Given the description of an element on the screen output the (x, y) to click on. 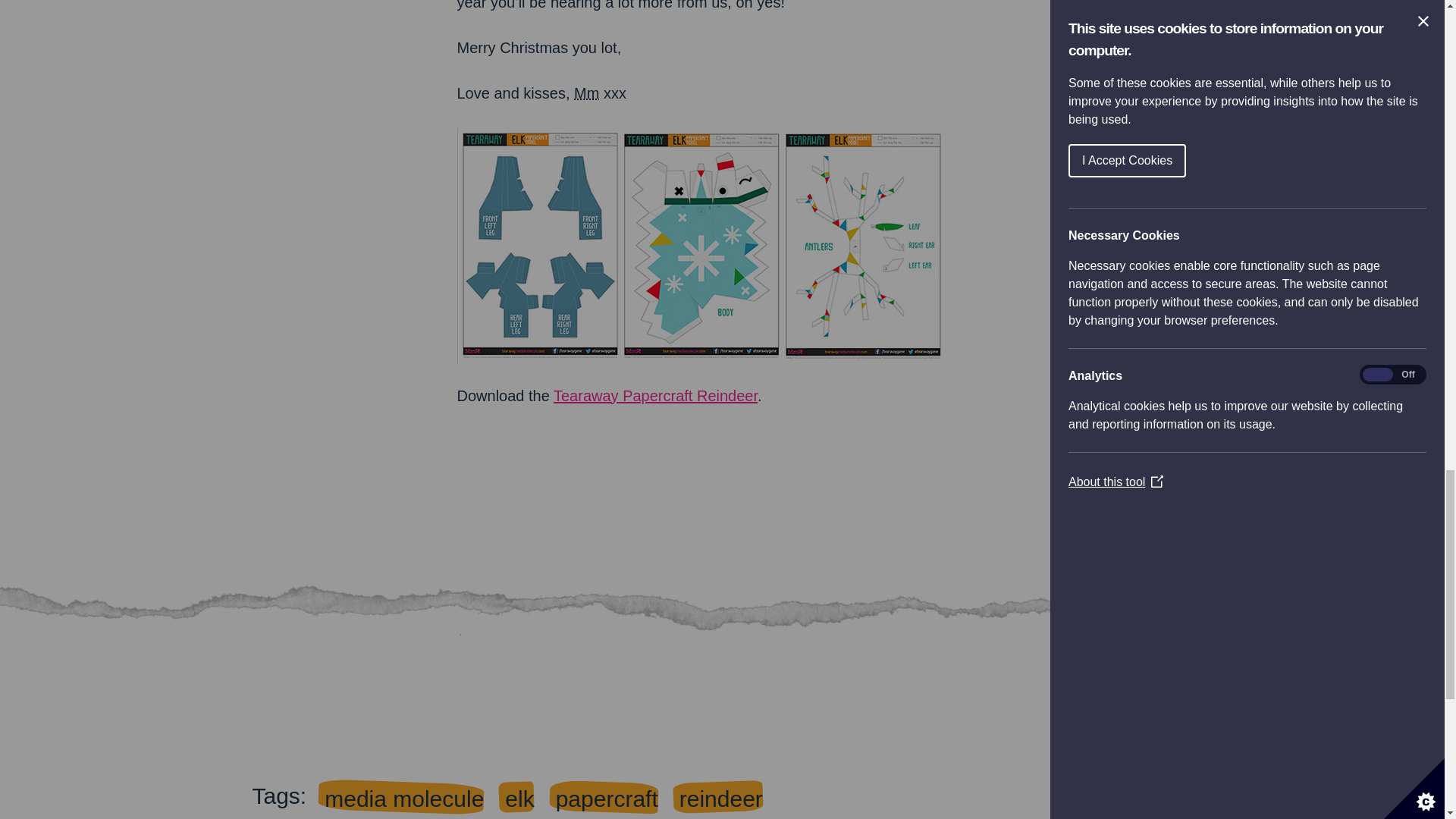
Tearaway Papercraft Reindeer (655, 395)
Media Molecule (585, 93)
reindeer (721, 798)
elk (519, 798)
media molecule (403, 798)
papercraft (607, 798)
